Given the description of an element on the screen output the (x, y) to click on. 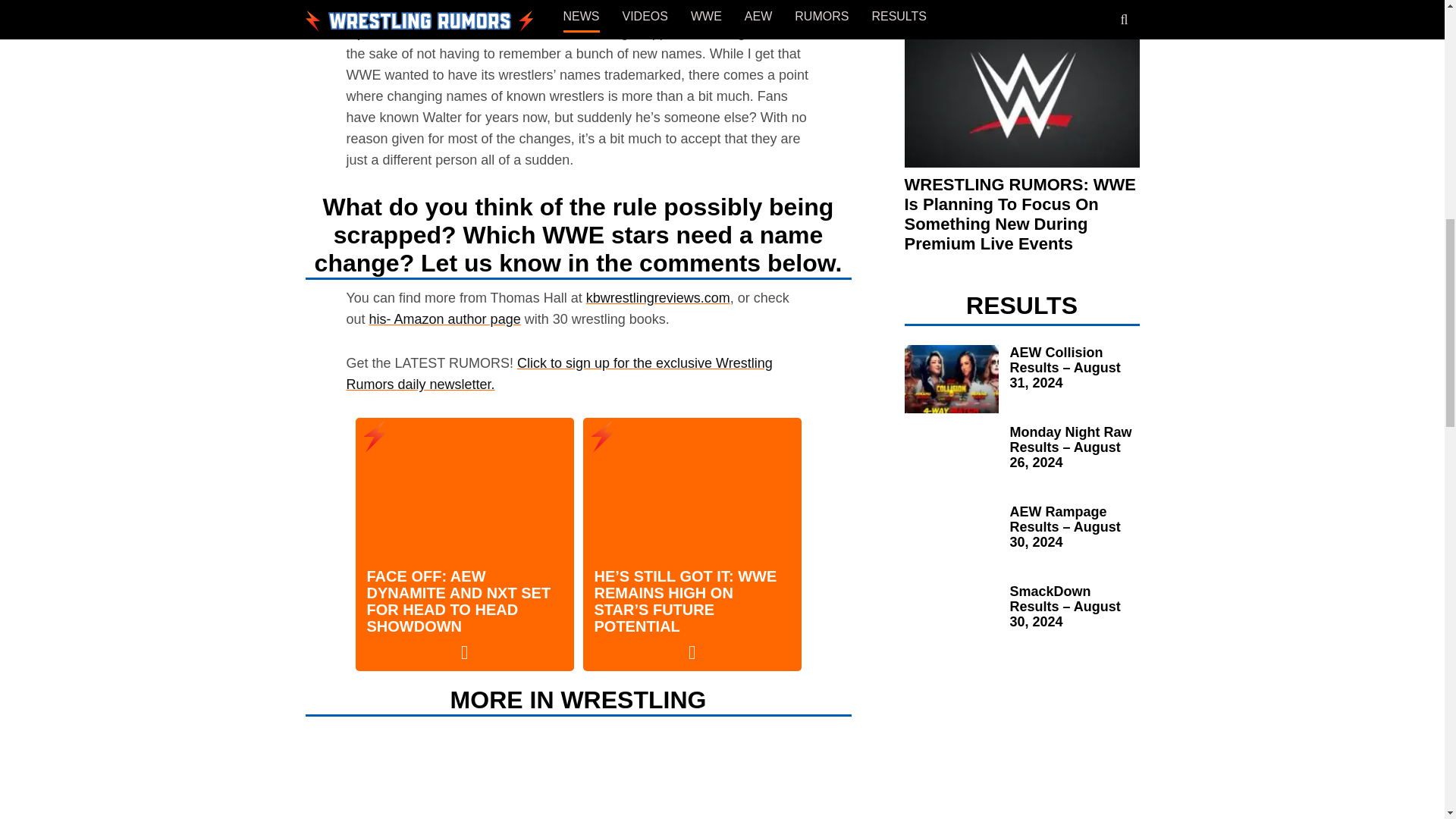
his- Amazon author page (445, 319)
kbwrestlingreviews.com (658, 297)
